Given the description of an element on the screen output the (x, y) to click on. 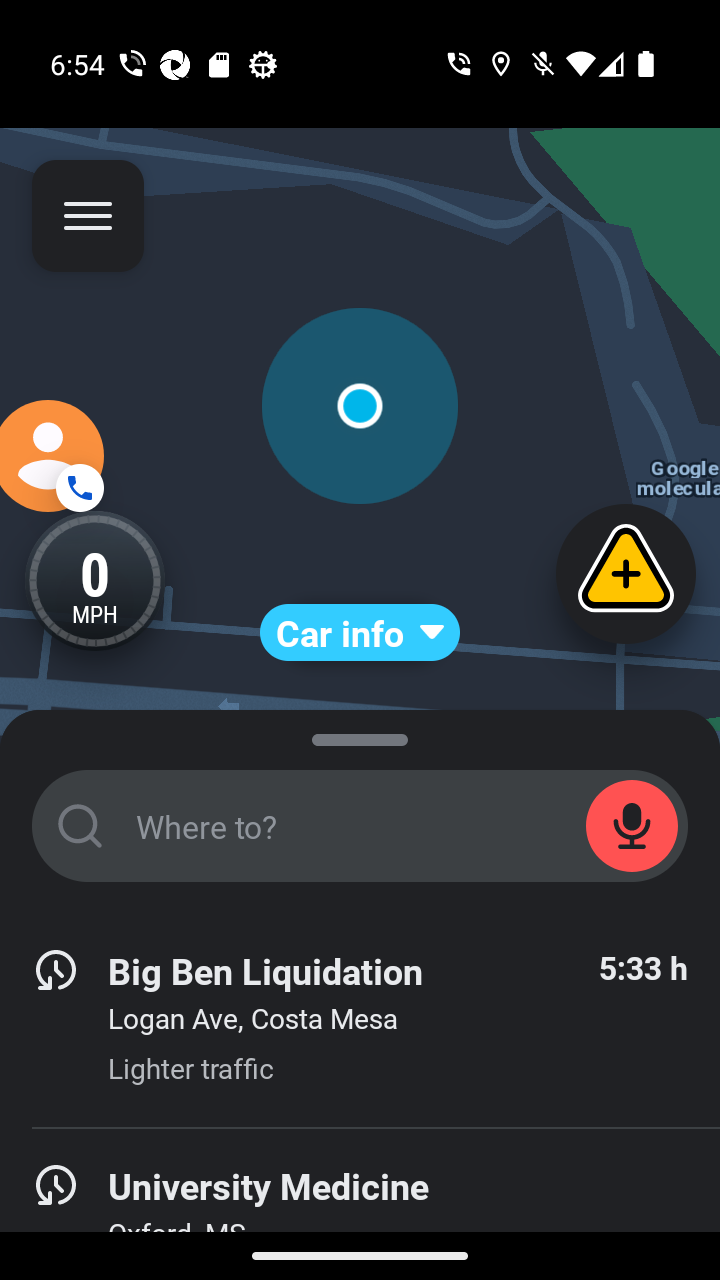
Car info (359, 632)
SUGGESTIONS_SHEET_DRAG_HANDLE (359, 735)
START_STATE_SEARCH_FIELD Where to? (359, 825)
University Medicine Oxford, MS (360, 1204)
